Given the description of an element on the screen output the (x, y) to click on. 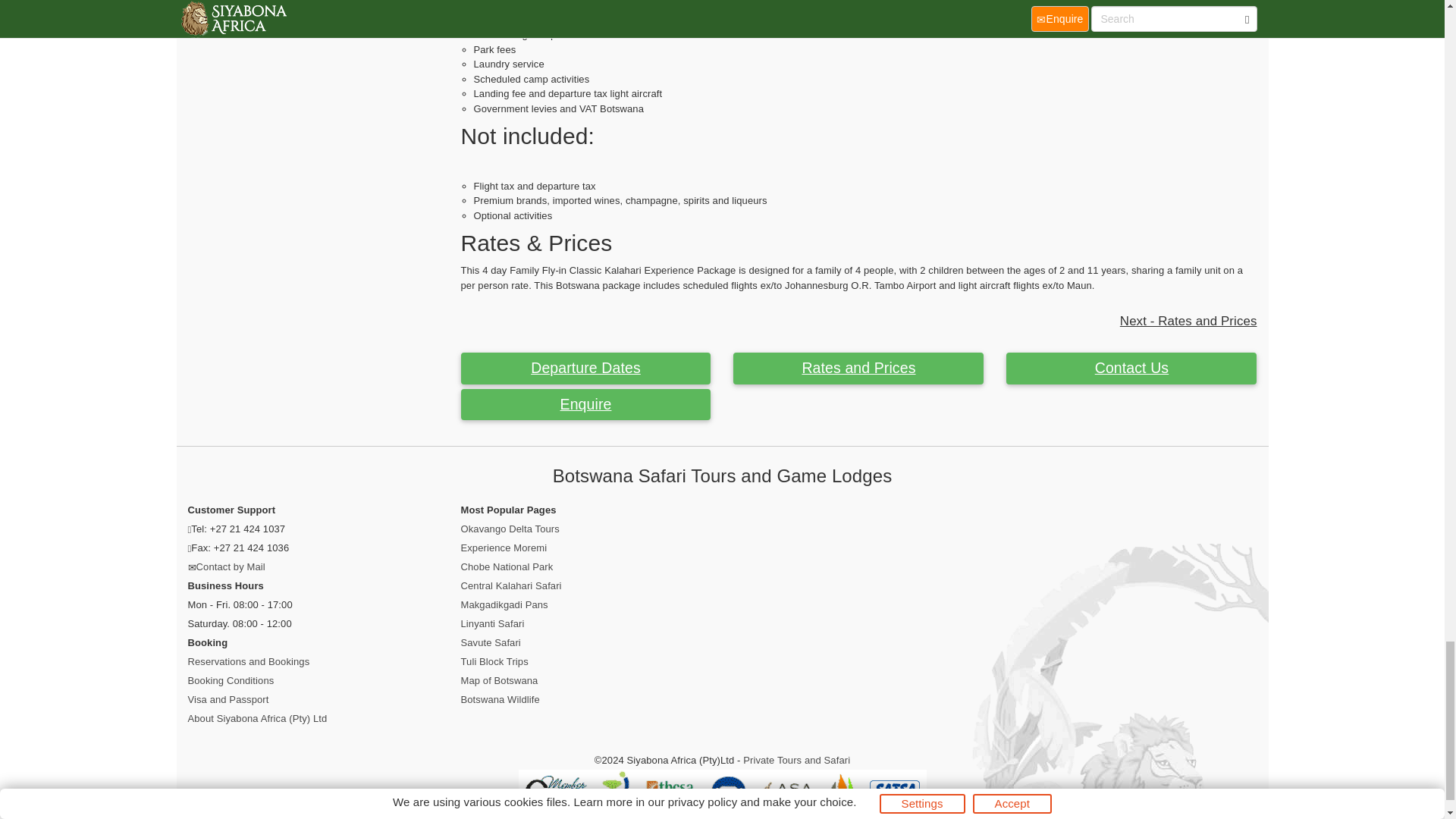
Enquire (586, 404)
Departure Dates (586, 368)
Request Booking (586, 404)
Departure Dates (586, 368)
Next - Rates and Prices (1188, 321)
Contact Us (1131, 368)
Rates and Prices (858, 368)
Ask a Question (1131, 368)
